Given the description of an element on the screen output the (x, y) to click on. 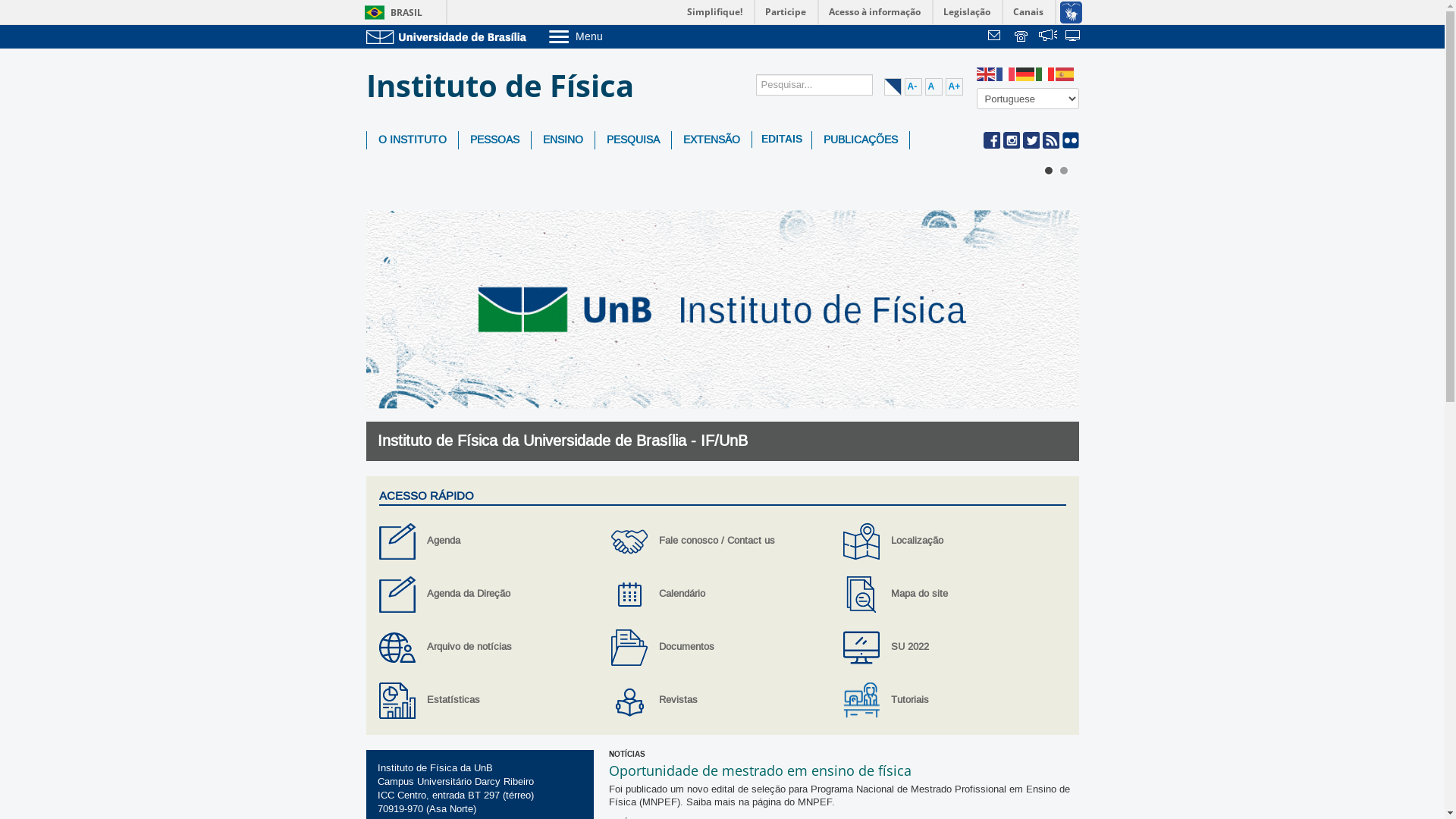
Ir para o Portal da UnB Element type: hover (448, 36)
A+ Element type: text (953, 86)
Menu Element type: text (613, 35)
Tutoriais Element type: text (954, 700)
English Element type: hover (986, 74)
A Element type: text (933, 86)
Agenda Element type: text (490, 541)
German Element type: hover (1025, 74)
EDITAIS Element type: text (781, 139)
Spanish Element type: hover (1065, 74)
A- Element type: text (912, 86)
Sistemas Element type: hover (1073, 37)
Italian Element type: hover (1045, 74)
French Element type: hover (1006, 74)
SU 2022 Element type: text (954, 647)
Revistas Element type: text (722, 700)
Fala.BR Element type: hover (1047, 37)
  Element type: text (1073, 37)
  Element type: text (996, 37)
  Element type: text (1022, 37)
Telefones da UnB Element type: hover (1022, 37)
Documentos Element type: text (722, 647)
  Element type: text (1047, 37)
Fale conosco / Contact us Element type: text (722, 541)
Webmail Element type: hover (996, 37)
BRASIL Element type: text (389, 12)
Mapa do site Element type: text (954, 594)
